Given the description of an element on the screen output the (x, y) to click on. 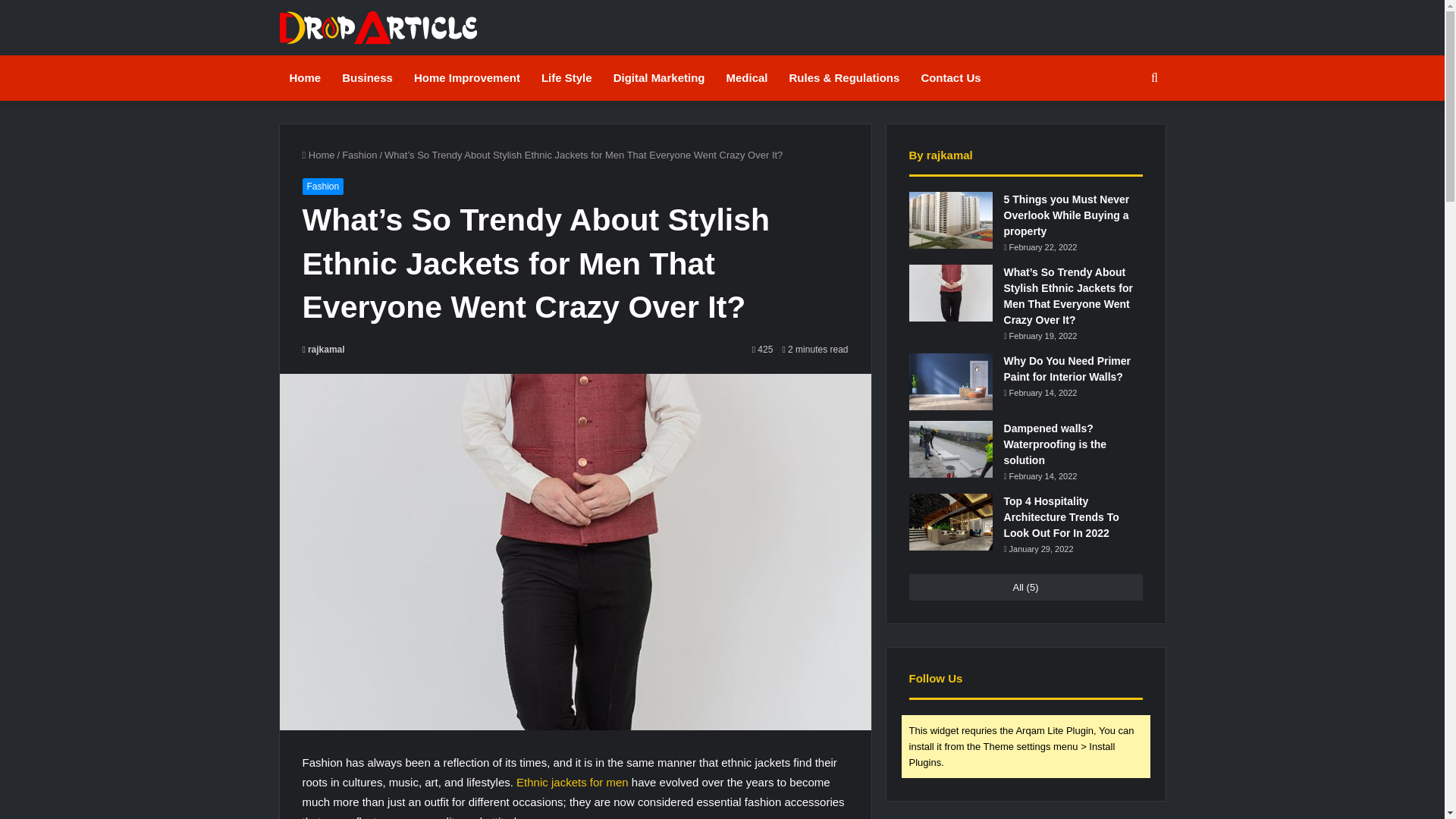
Contact Us (950, 77)
Ethnic jackets for men (572, 781)
rajkamal (322, 348)
rajkamal (322, 348)
Medical (745, 77)
Home (317, 154)
Drop Article (378, 27)
Fashion (322, 186)
Digital Marketing (659, 77)
Home (305, 77)
